Given the description of an element on the screen output the (x, y) to click on. 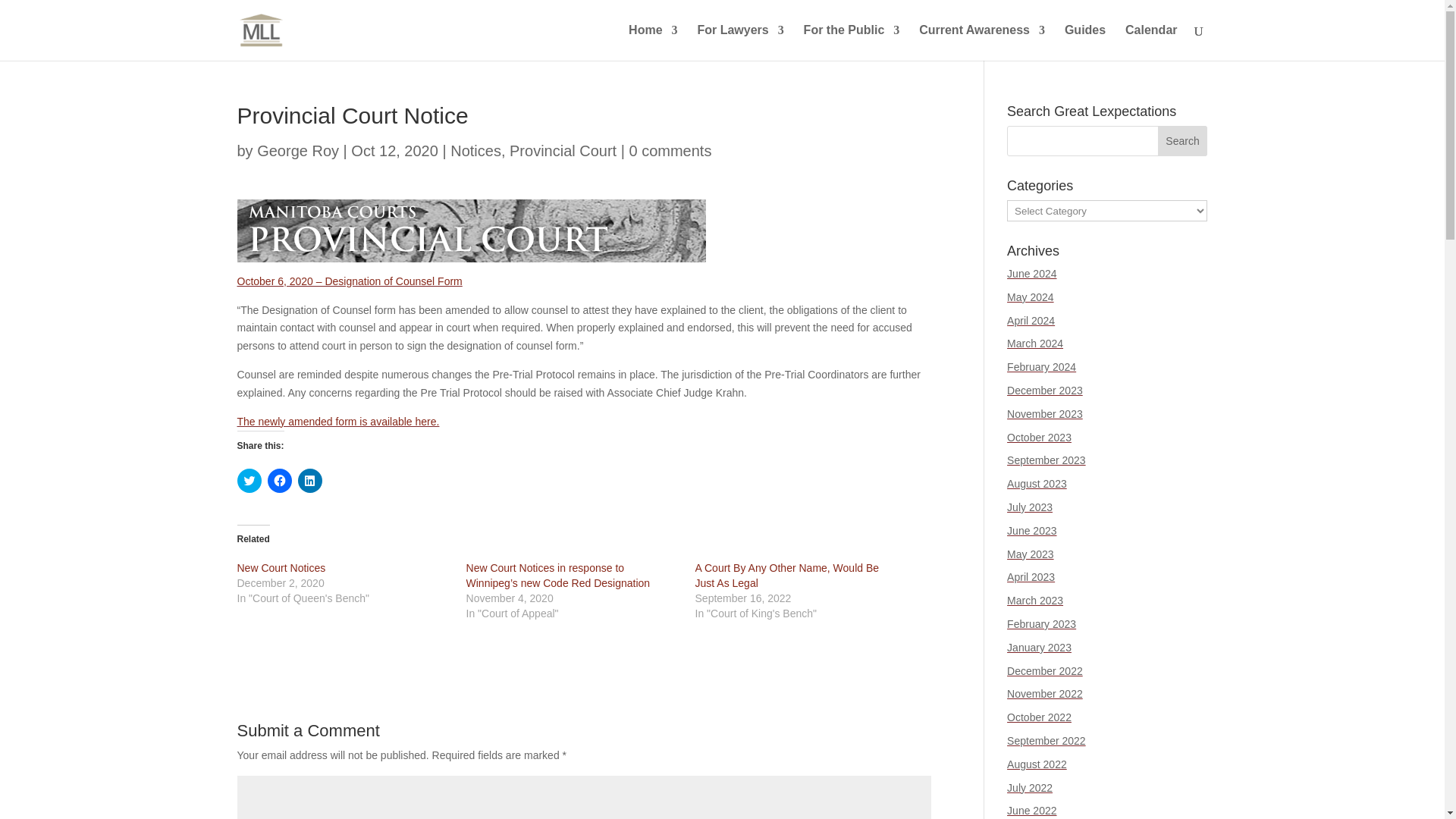
Click to share on Twitter (247, 480)
George Roy (298, 150)
0 comments (669, 150)
Notices (474, 150)
Current Awareness (981, 42)
Click to share on LinkedIn (309, 480)
Provincial Court (562, 150)
For the Public (851, 42)
New Court Notices (279, 567)
Search (1182, 141)
Click to share on Facebook (278, 480)
Guides (1084, 42)
A Court By Any Other Name, Would Be Just As Legal (787, 574)
Home (652, 42)
Calendar (1150, 42)
